Given the description of an element on the screen output the (x, y) to click on. 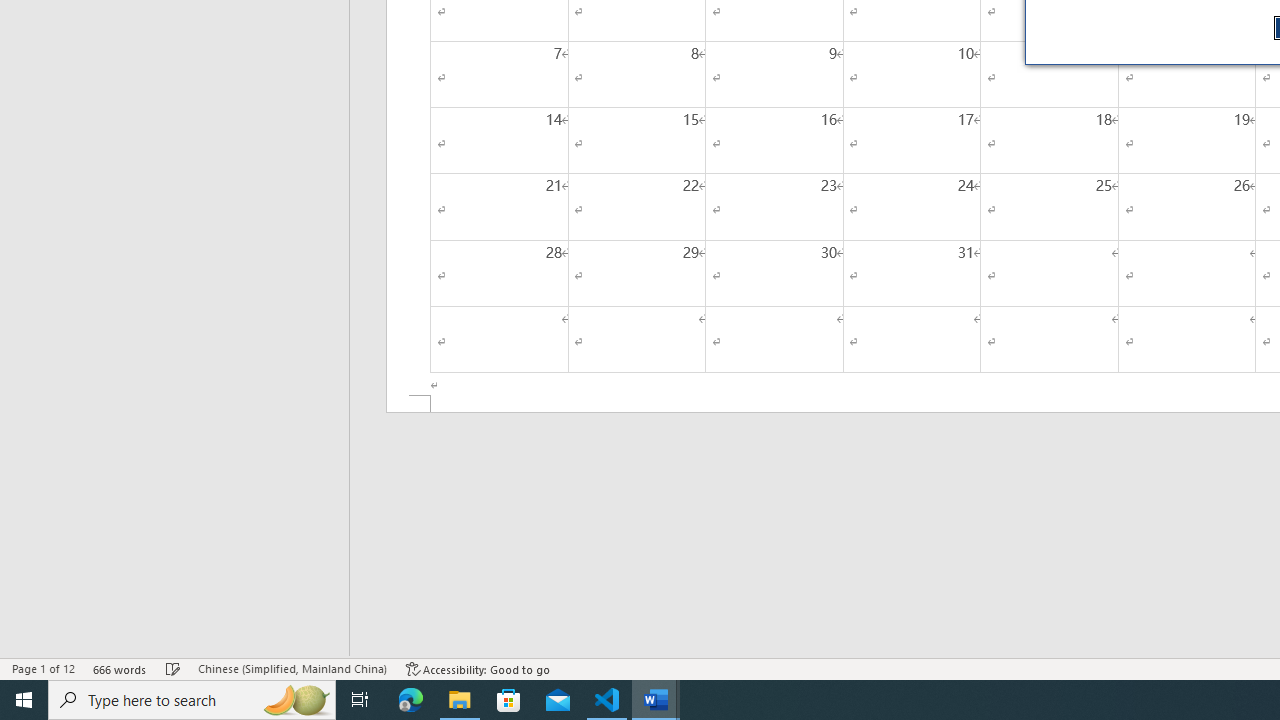
File Explorer - 1 running window (460, 699)
Word Count 666 words (119, 668)
Word - 2 running windows (656, 699)
Microsoft Edge (411, 699)
Page Number Page 1 of 12 (43, 668)
